Given the description of an element on the screen output the (x, y) to click on. 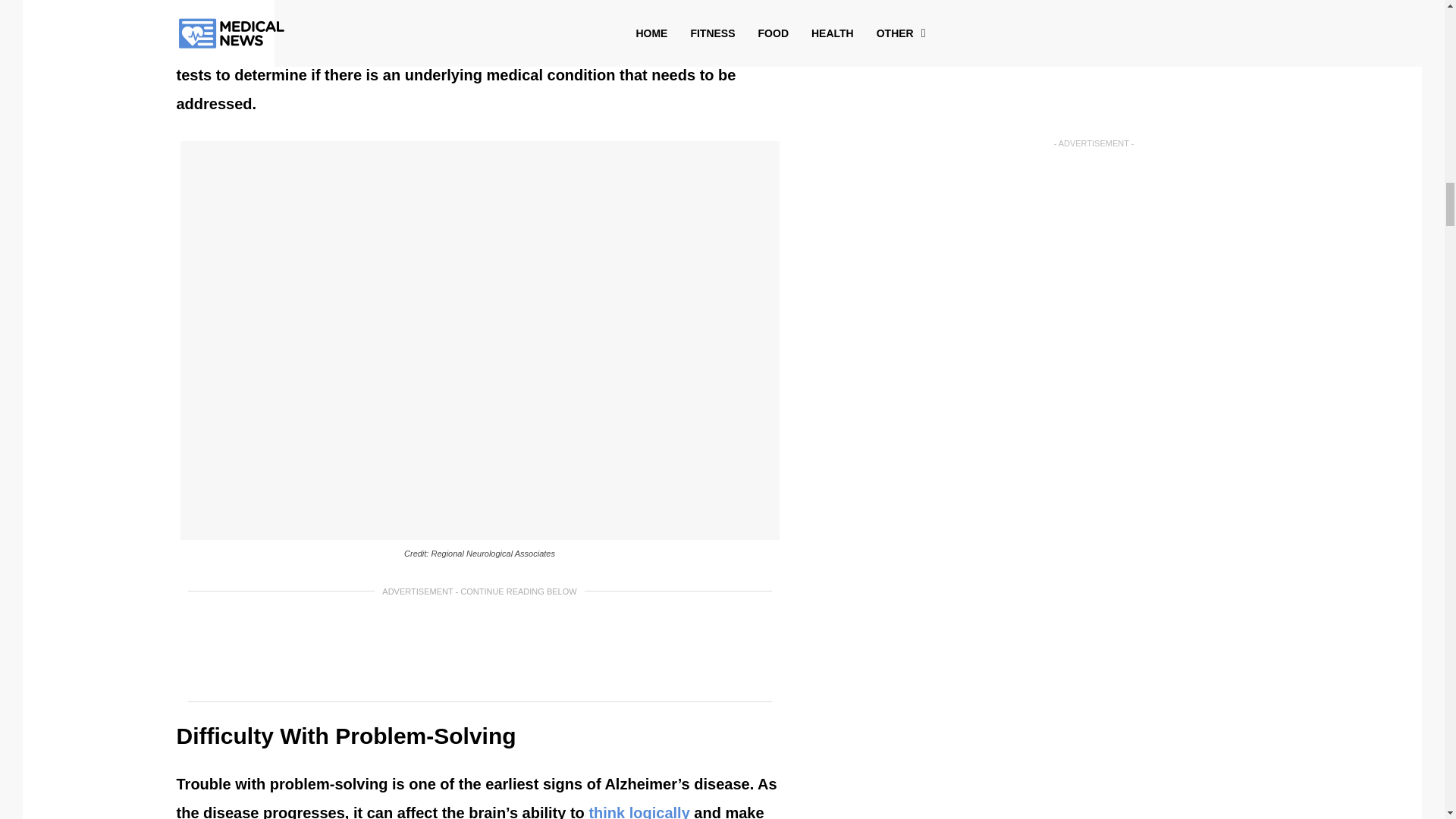
think logically (638, 811)
